Given the description of an element on the screen output the (x, y) to click on. 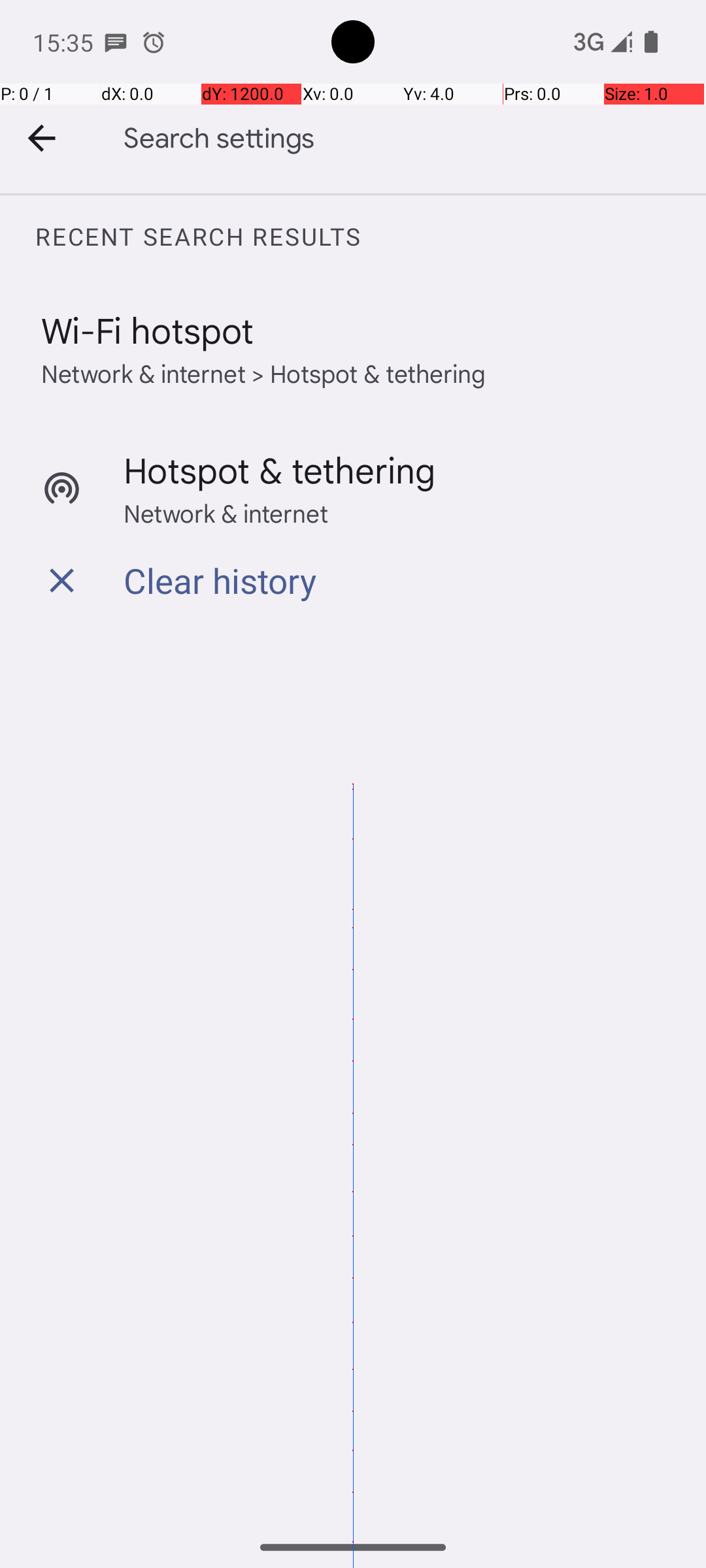
RECENT SEARCH RESULTS Element type: android.widget.TextView (370, 236)
Wi-Fi hotspot Element type: android.widget.TextView (147, 329)
Network & internet > Hotspot & tethering Element type: android.widget.TextView (263, 372)
Clear history Element type: android.widget.TextView (219, 580)
